Given the description of an element on the screen output the (x, y) to click on. 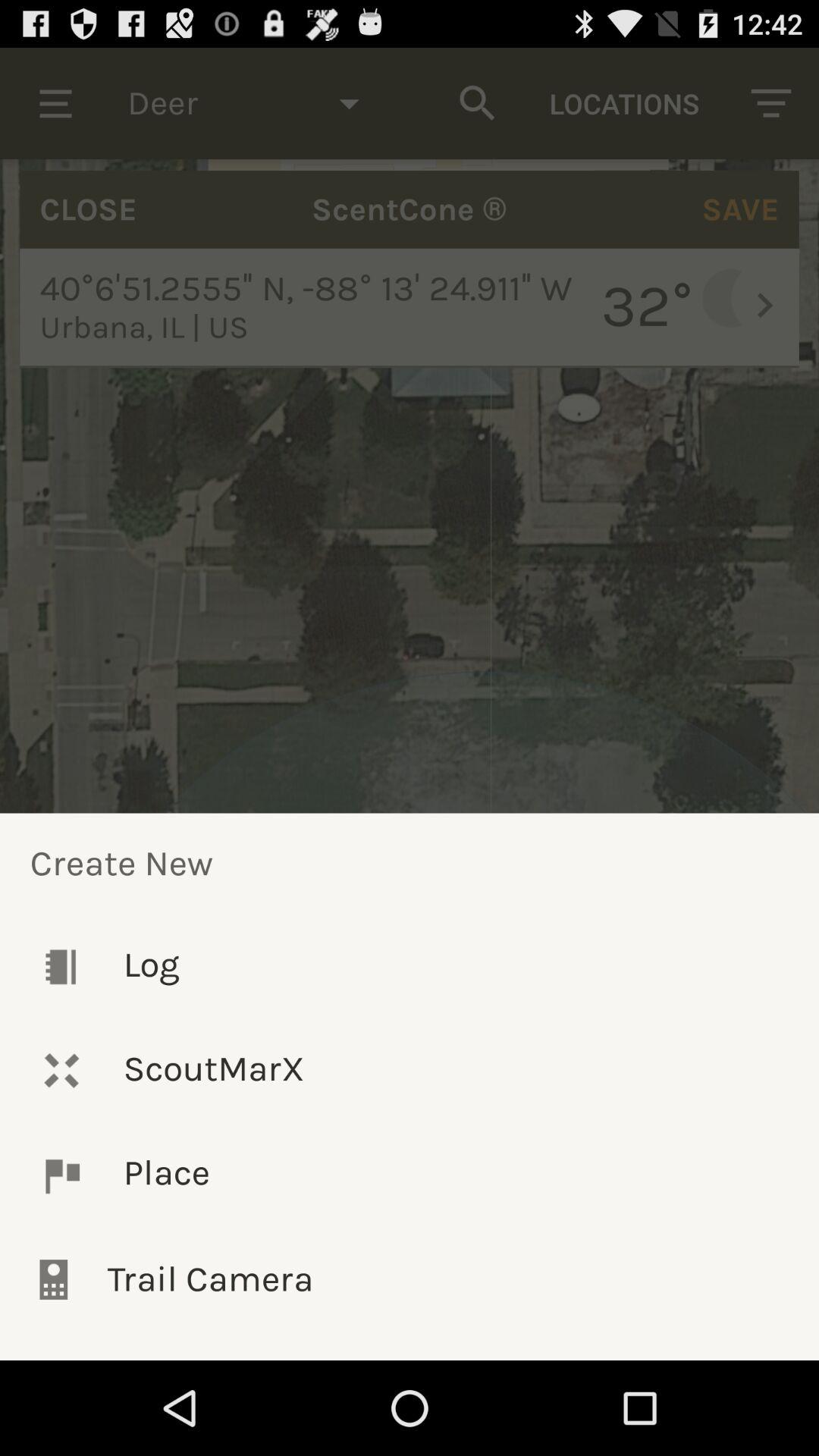
choose the item above the scoutmarx item (409, 966)
